Given the description of an element on the screen output the (x, y) to click on. 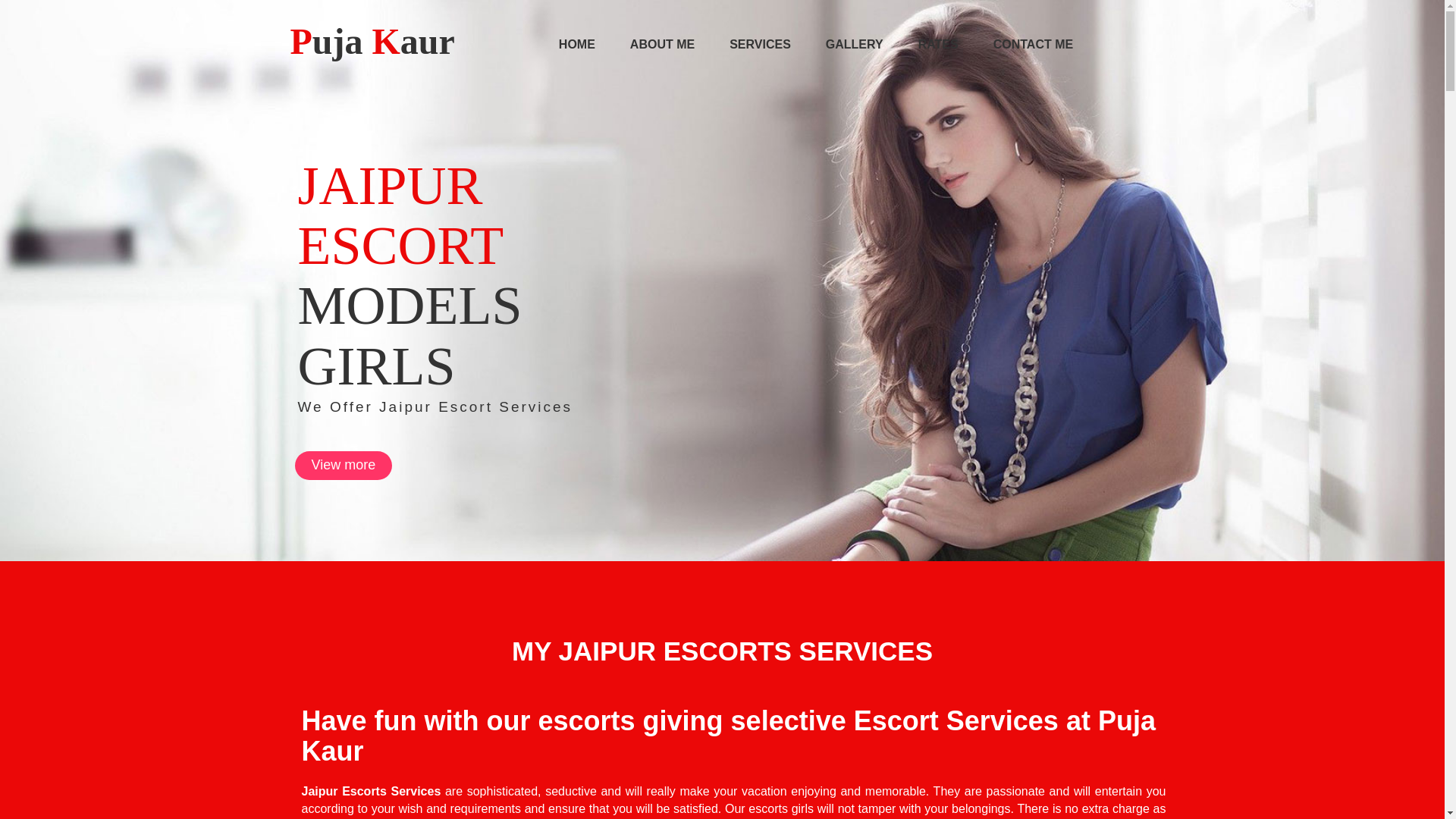
View more (342, 465)
HOME (577, 44)
CONTACT ME (1032, 44)
SERVICES (760, 44)
ABOUT ME (661, 44)
RATES (938, 44)
Puja Kaur (371, 41)
GALLERY (854, 44)
Jaipur Escorts Services (371, 790)
